Given the description of an element on the screen output the (x, y) to click on. 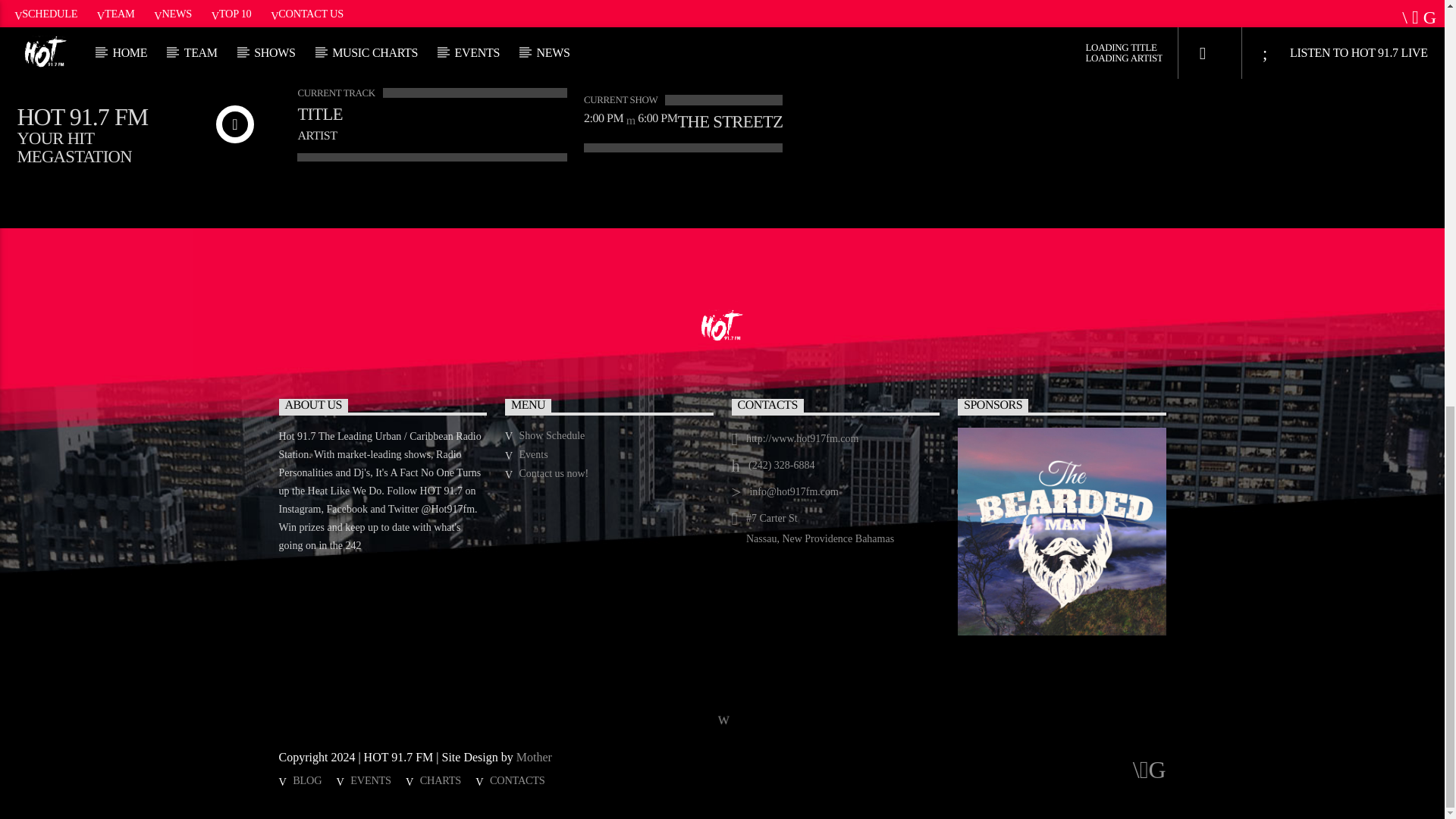
Events (533, 454)
Contact us now! (554, 473)
Show Schedule (552, 435)
Search (1054, 7)
